Given the description of an element on the screen output the (x, y) to click on. 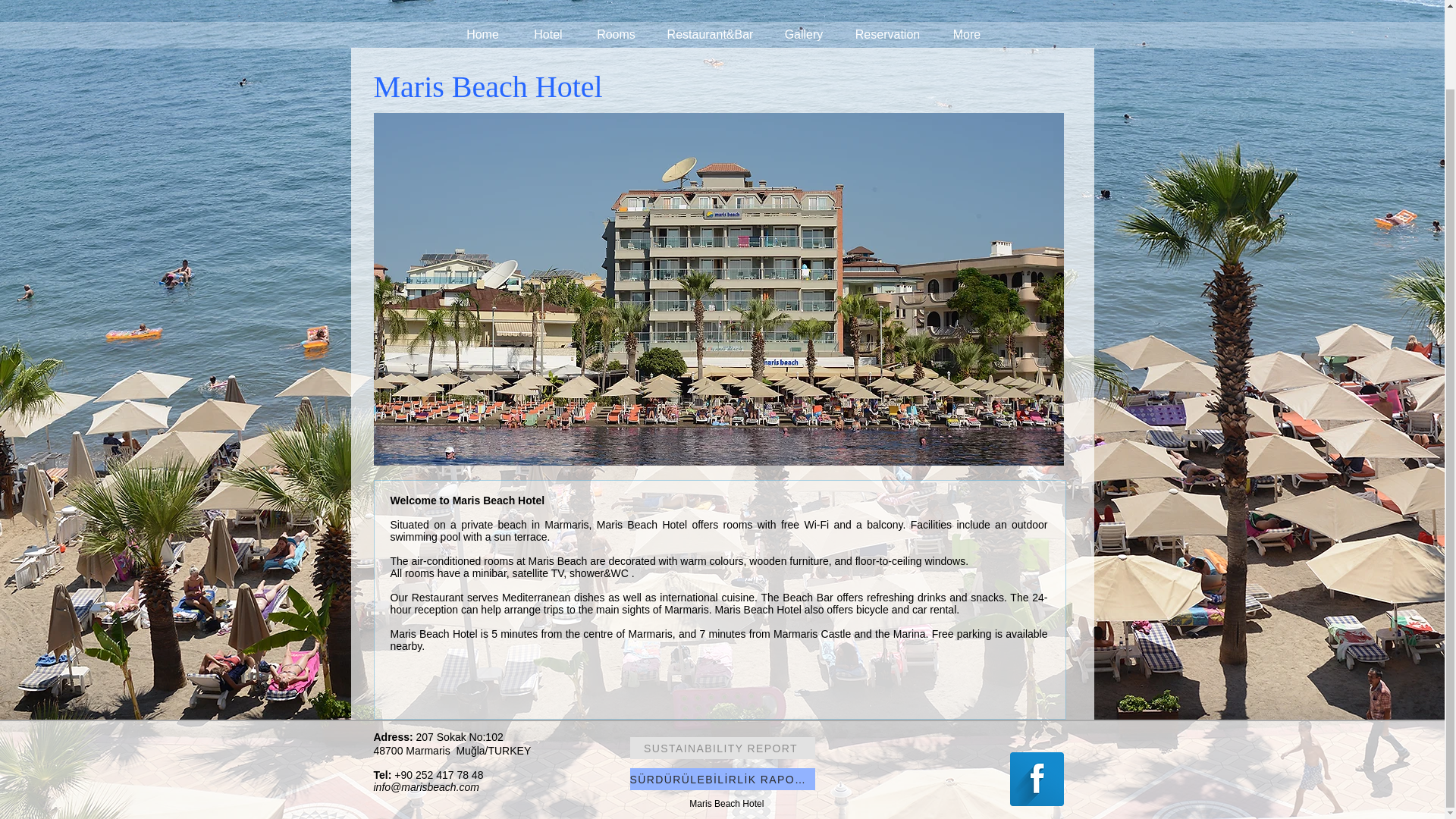
SUSTAINABILITY REPORT (720, 748)
Hotel (547, 34)
Home (481, 34)
Gallery (804, 34)
Reservation (887, 34)
Rooms (616, 34)
